Given the description of an element on the screen output the (x, y) to click on. 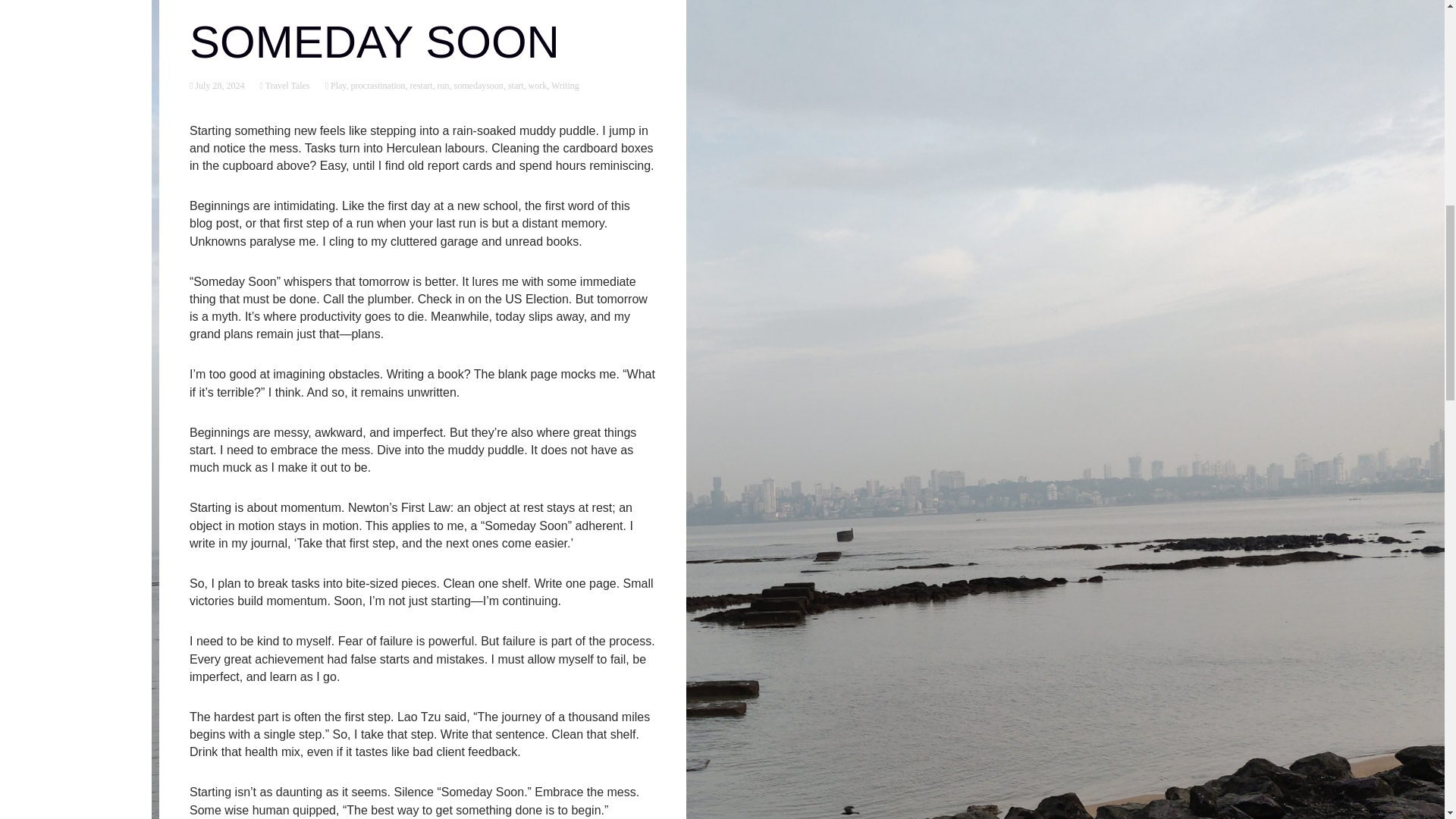
restart (421, 85)
run (443, 85)
Permalink to Someday Soon (218, 85)
Travel Tales (286, 85)
start (516, 85)
Play (337, 85)
somedaysoon (478, 85)
procrastination (378, 85)
Writing (565, 85)
work (537, 85)
SOMEDAY SOON (374, 41)
July 28, 2024 (218, 85)
